Given the description of an element on the screen output the (x, y) to click on. 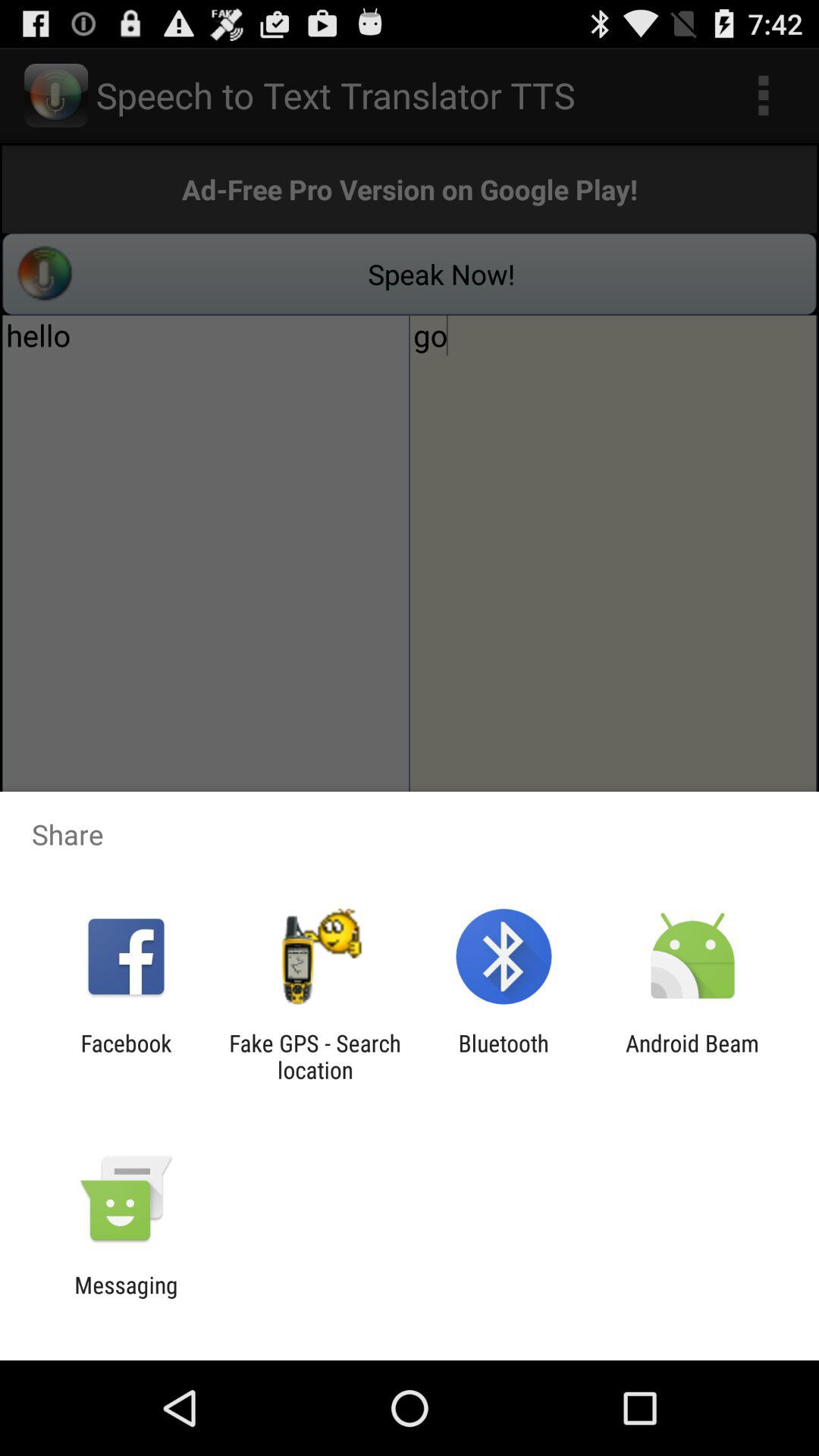
select app next to the bluetooth app (692, 1056)
